Given the description of an element on the screen output the (x, y) to click on. 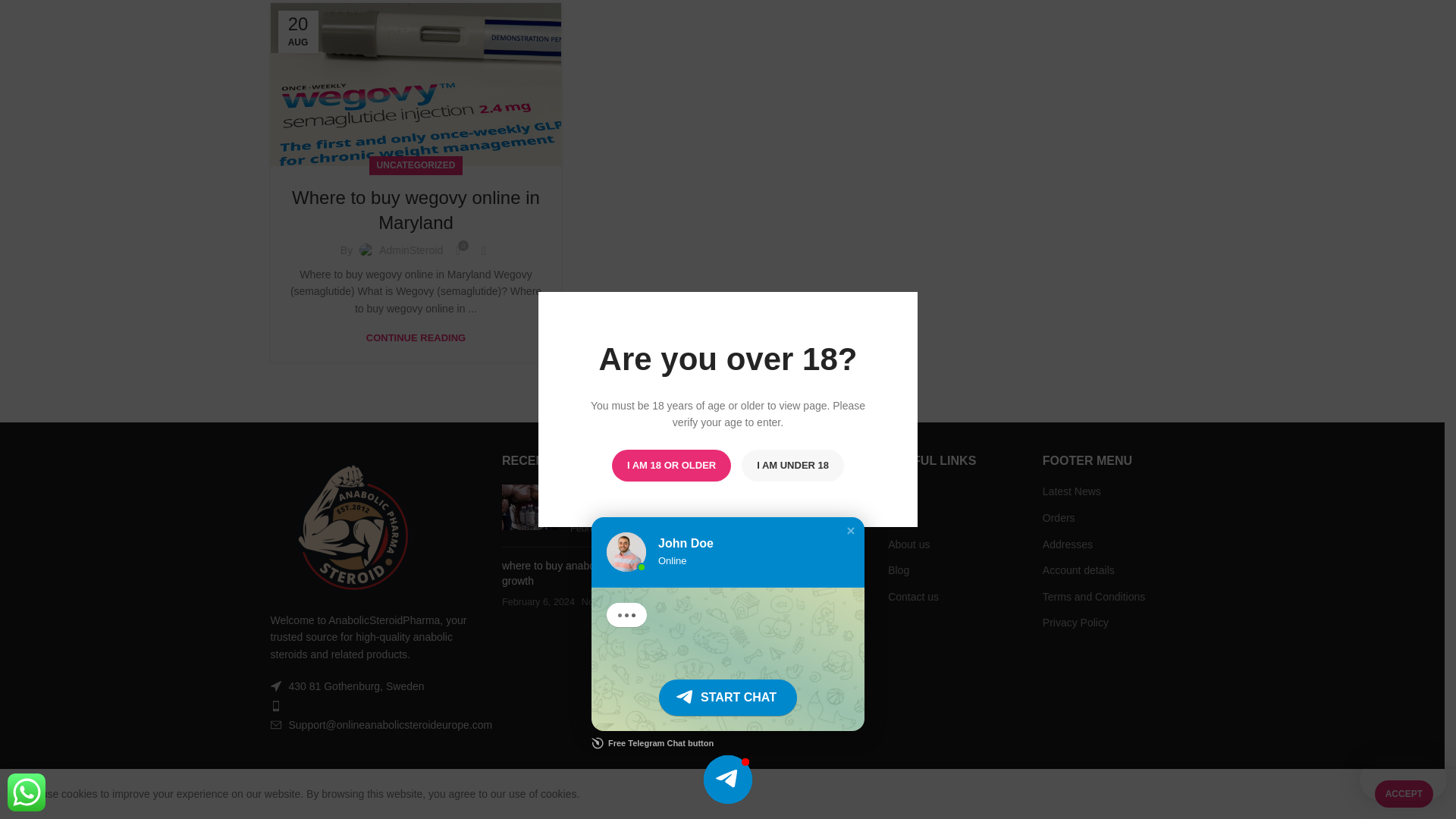
I AM 18 OR OLDER (670, 42)
I AM UNDER 18 (792, 42)
